Given the description of an element on the screen output the (x, y) to click on. 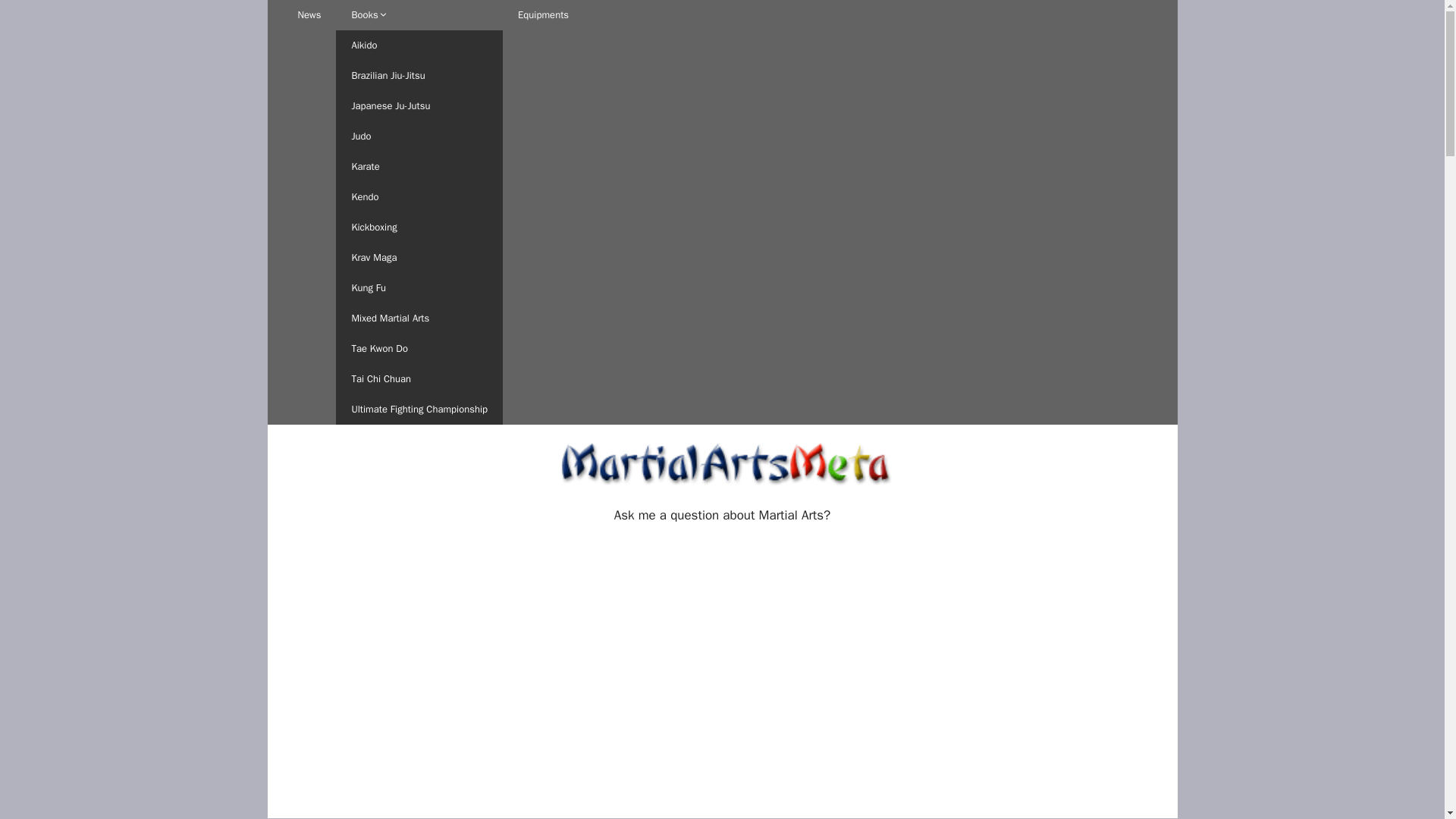
Aikido (419, 45)
Mixed Martial Arts (419, 318)
Japanese Ju-Jutsu (419, 105)
Ultimate Fighting Championship (419, 409)
Books (419, 15)
Krav Maga (419, 257)
Equipments (542, 15)
Brazilian Jiu-Jitsu (419, 75)
Kung Fu (419, 287)
News (309, 15)
